Given the description of an element on the screen output the (x, y) to click on. 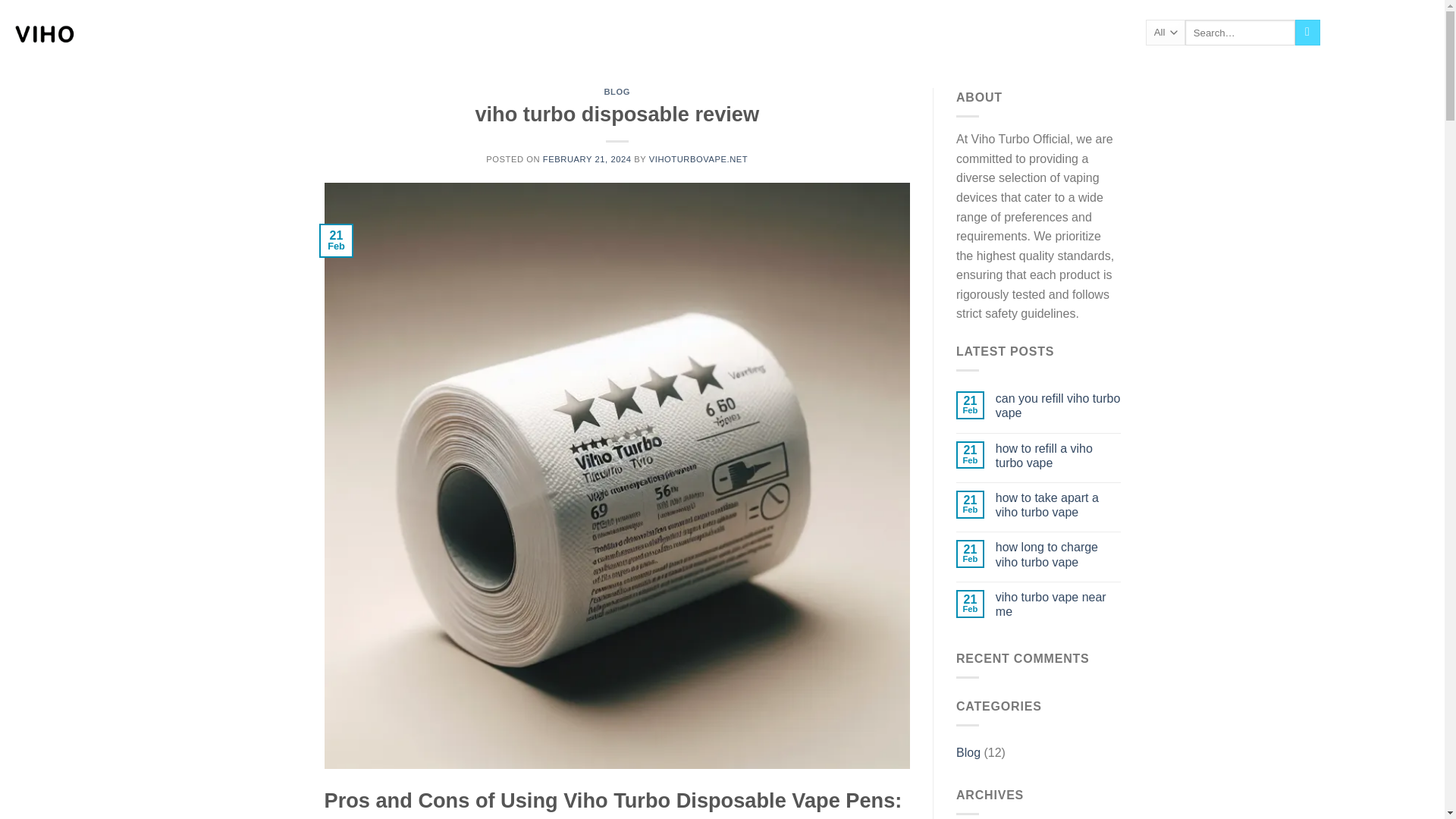
HOME (200, 32)
VIHO TURBO VAPE (350, 32)
BLOG (279, 32)
VIHOTURBOVAPE.NET (698, 158)
Cart (1387, 32)
BLOG (617, 91)
viho turbo vape (87, 32)
SHOP (239, 32)
Search (1307, 32)
FEBRUARY 21, 2024 (587, 158)
